Given the description of an element on the screen output the (x, y) to click on. 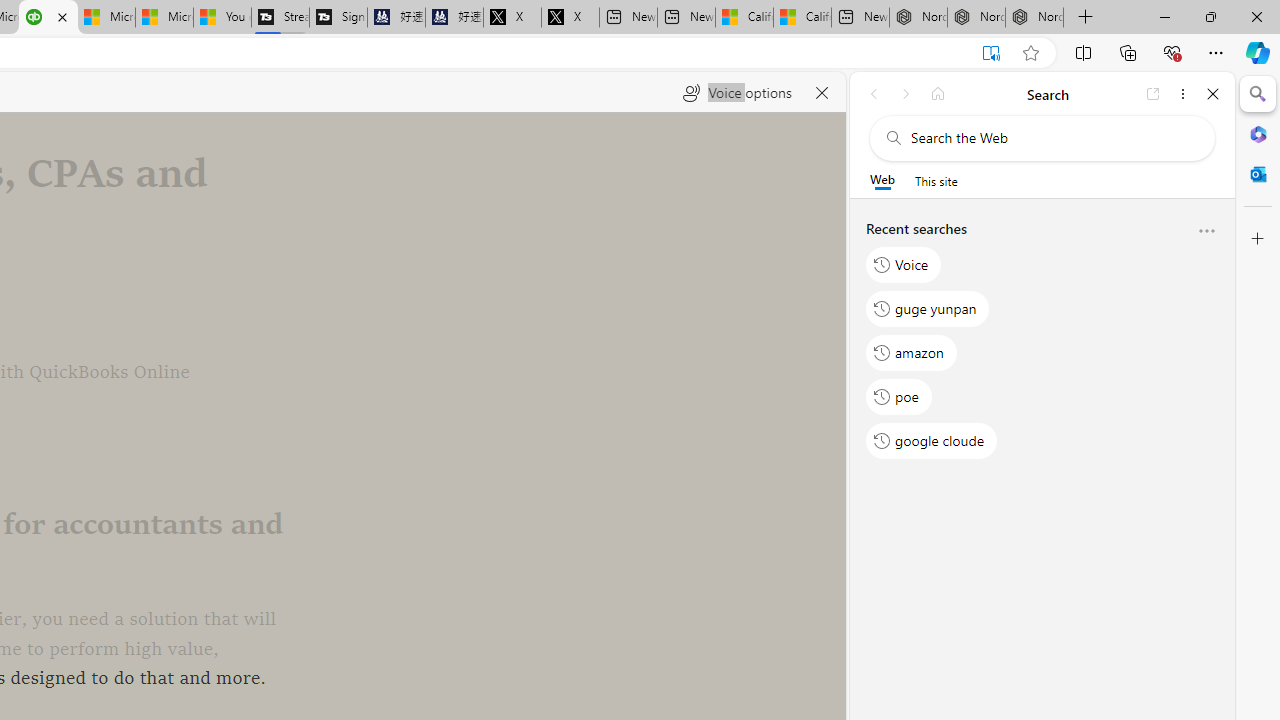
Recent searchesVoiceguge yunpanamazonpoegoogle cloude (1042, 342)
Nordace Siena Pro 15 Backpack (976, 17)
amazon (911, 352)
Outlook (1258, 174)
Search the web (1051, 137)
This site scope (936, 180)
Accounting Software for Accountants, CPAs and Bookkeepers (48, 17)
